Given the description of an element on the screen output the (x, y) to click on. 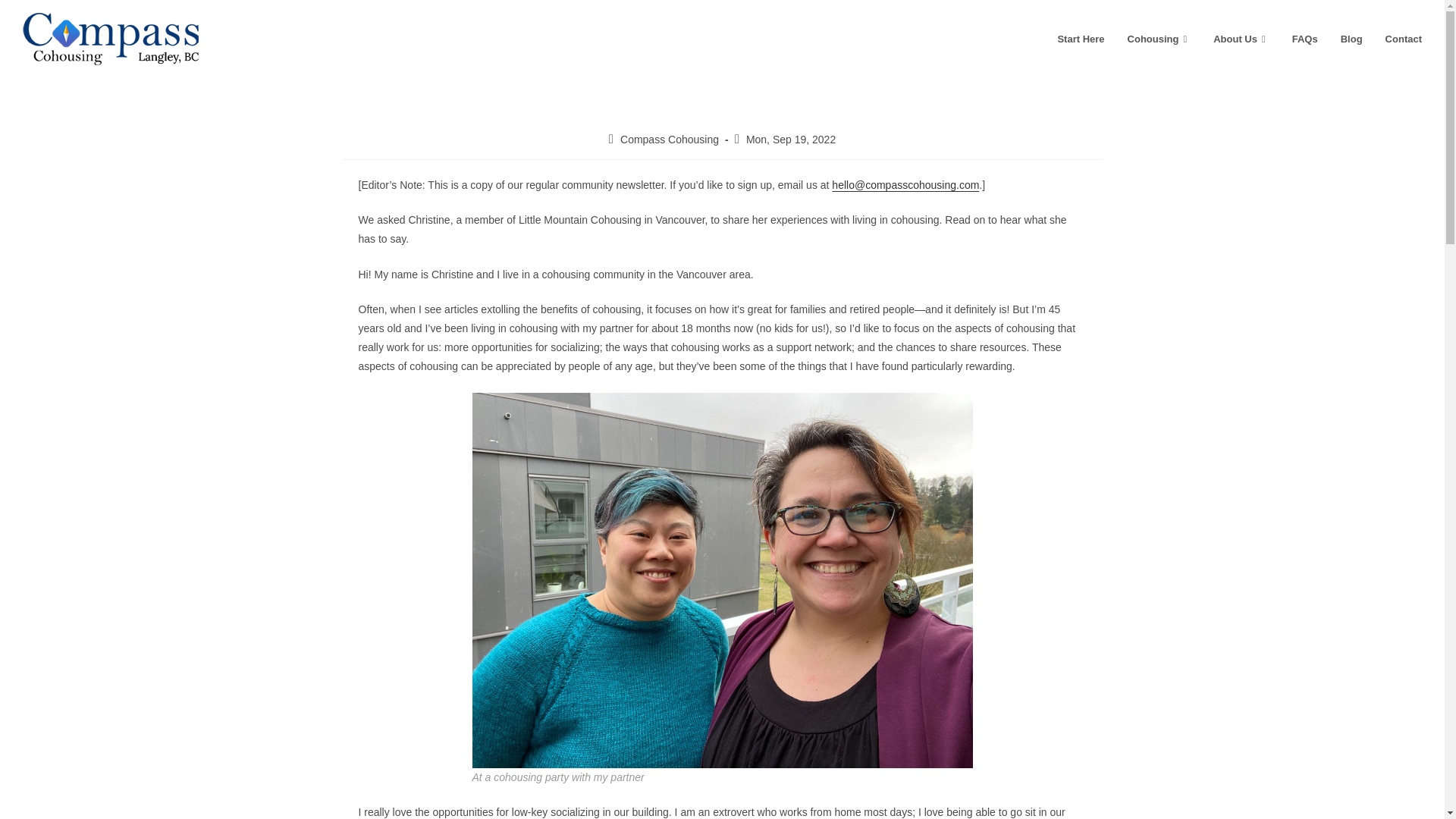
FAQs (1305, 39)
Start Here (1080, 39)
Compass Cohousing (669, 139)
Posts by Compass Cohousing (669, 139)
Cohousing (1159, 39)
About Us (1241, 39)
Blog (1351, 39)
Contact (1403, 39)
